Given the description of an element on the screen output the (x, y) to click on. 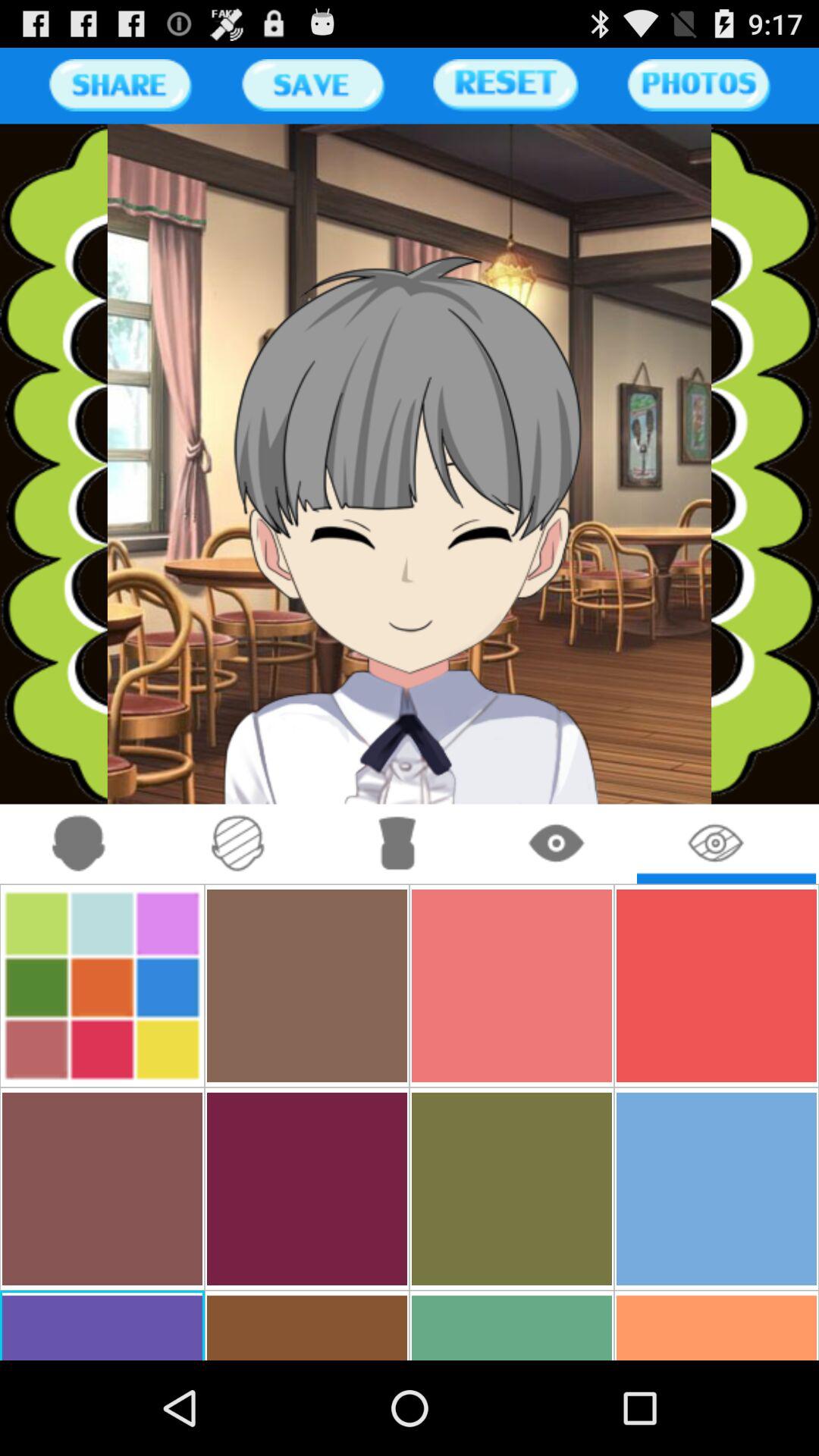
select save (312, 85)
